Given the description of an element on the screen output the (x, y) to click on. 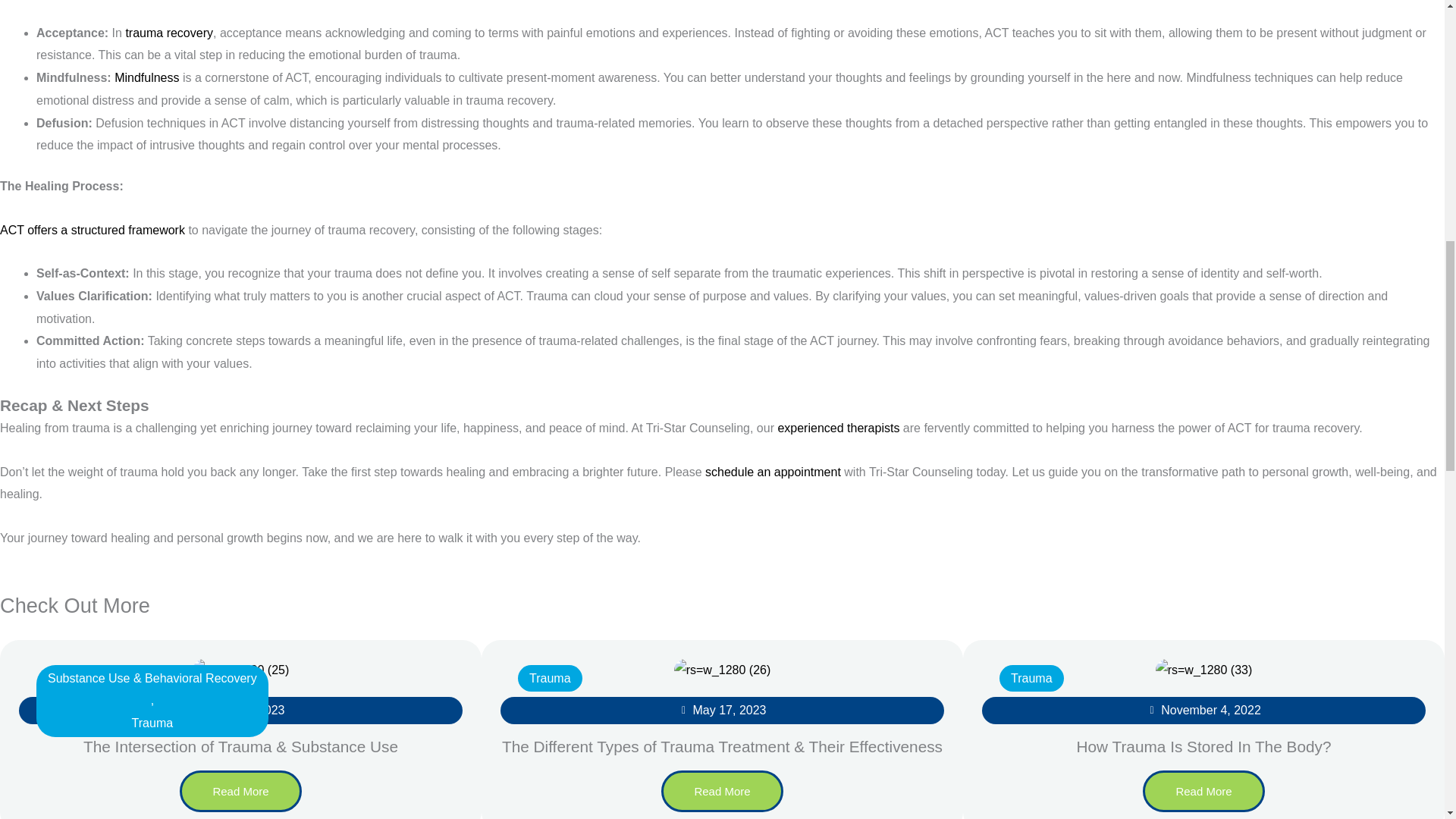
Mindfulness (147, 77)
schedule an appointment (772, 472)
trauma recovery (168, 32)
Read More (240, 791)
Trauma (152, 722)
How Trauma Is Stored In The Body? (1204, 746)
ACT offers a structured framework (92, 229)
experienced therapists (838, 427)
Read More (722, 791)
Read More (1202, 791)
Trauma (1031, 678)
Trauma (549, 678)
